Given the description of an element on the screen output the (x, y) to click on. 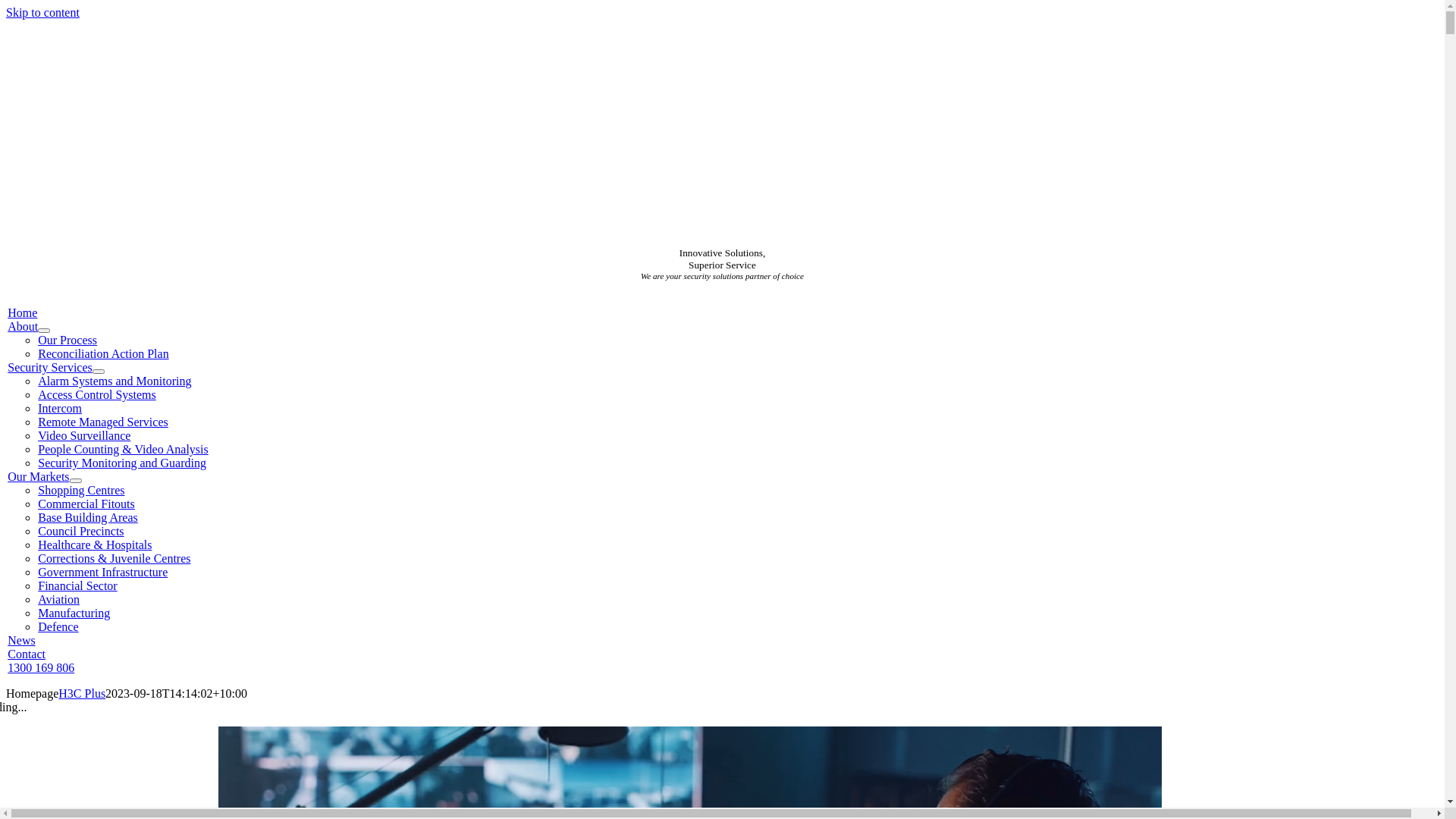
Base Building Areas Element type: text (87, 517)
Contact Element type: text (26, 653)
H3C Plus Element type: text (81, 693)
Home Element type: text (22, 312)
Security Monitoring and Guarding Element type: text (121, 462)
Corrections & Juvenile Centres Element type: text (113, 558)
Access Control Systems Element type: text (96, 394)
Skip to content Element type: text (42, 12)
Defence Element type: text (57, 626)
Healthcare & Hospitals Element type: text (94, 544)
News Element type: text (20, 639)
Security Services Element type: text (49, 366)
Council Precincts Element type: text (80, 530)
Intercom Element type: text (59, 407)
Video Surveillance Element type: text (83, 435)
Shopping Centres Element type: text (80, 489)
Financial Sector Element type: text (76, 585)
Alarm Systems and Monitoring Element type: text (114, 380)
Our Process Element type: text (67, 339)
Aviation Element type: text (58, 599)
Our Markets Element type: text (38, 476)
Commercial Fitouts Element type: text (85, 503)
Reconciliation Action Plan Element type: text (102, 353)
1300 169 806 Element type: text (40, 667)
Manufacturing Element type: text (73, 612)
Remote Managed Services Element type: text (102, 421)
Government Infrastructure Element type: text (102, 571)
People Counting & Video Analysis Element type: text (122, 448)
About Element type: text (22, 326)
